Given the description of an element on the screen output the (x, y) to click on. 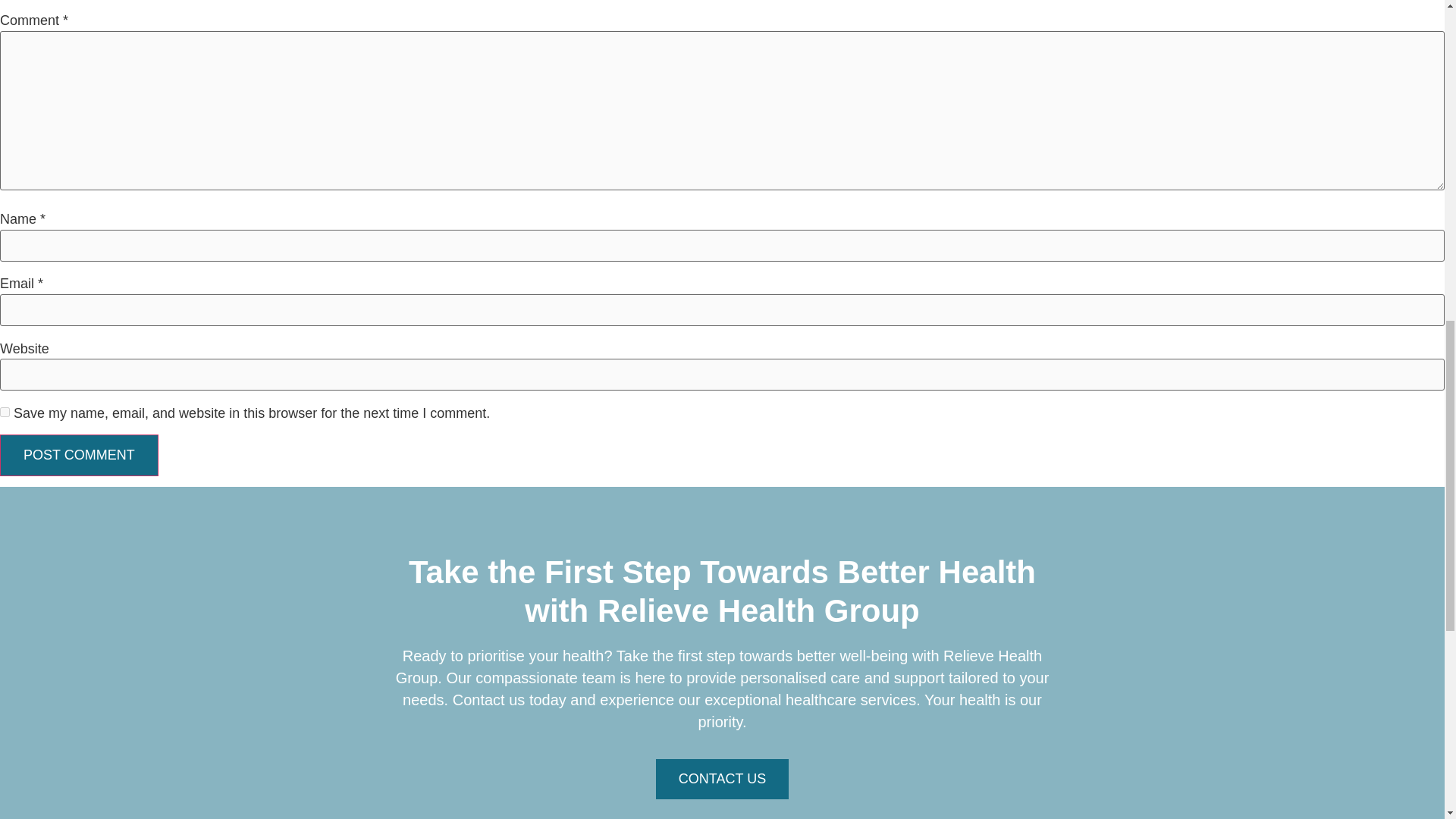
CONTACT US (722, 779)
Post Comment (79, 454)
yes (5, 411)
Post Comment (79, 454)
